Given the description of an element on the screen output the (x, y) to click on. 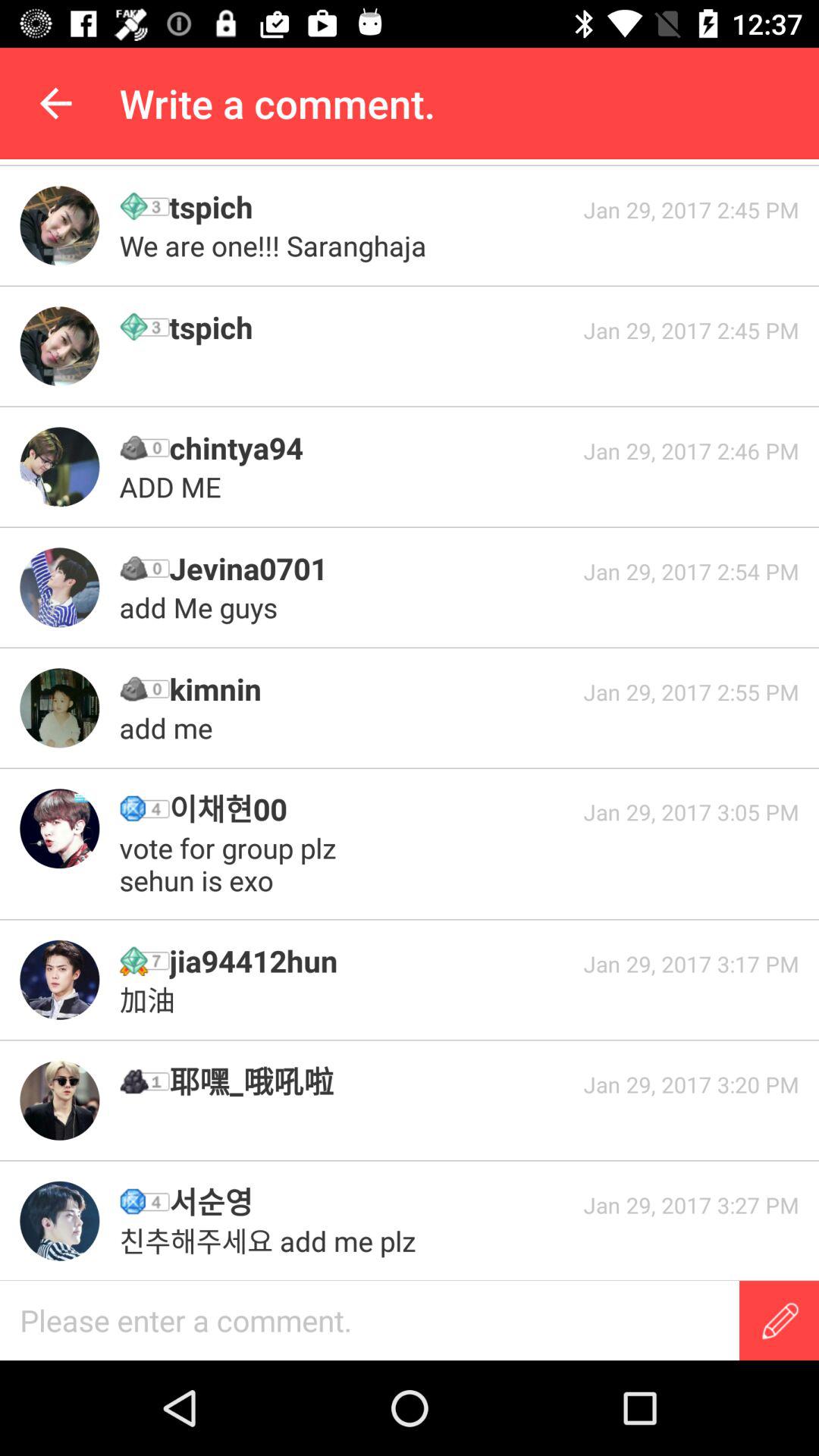
open user avatar (59, 979)
